Given the description of an element on the screen output the (x, y) to click on. 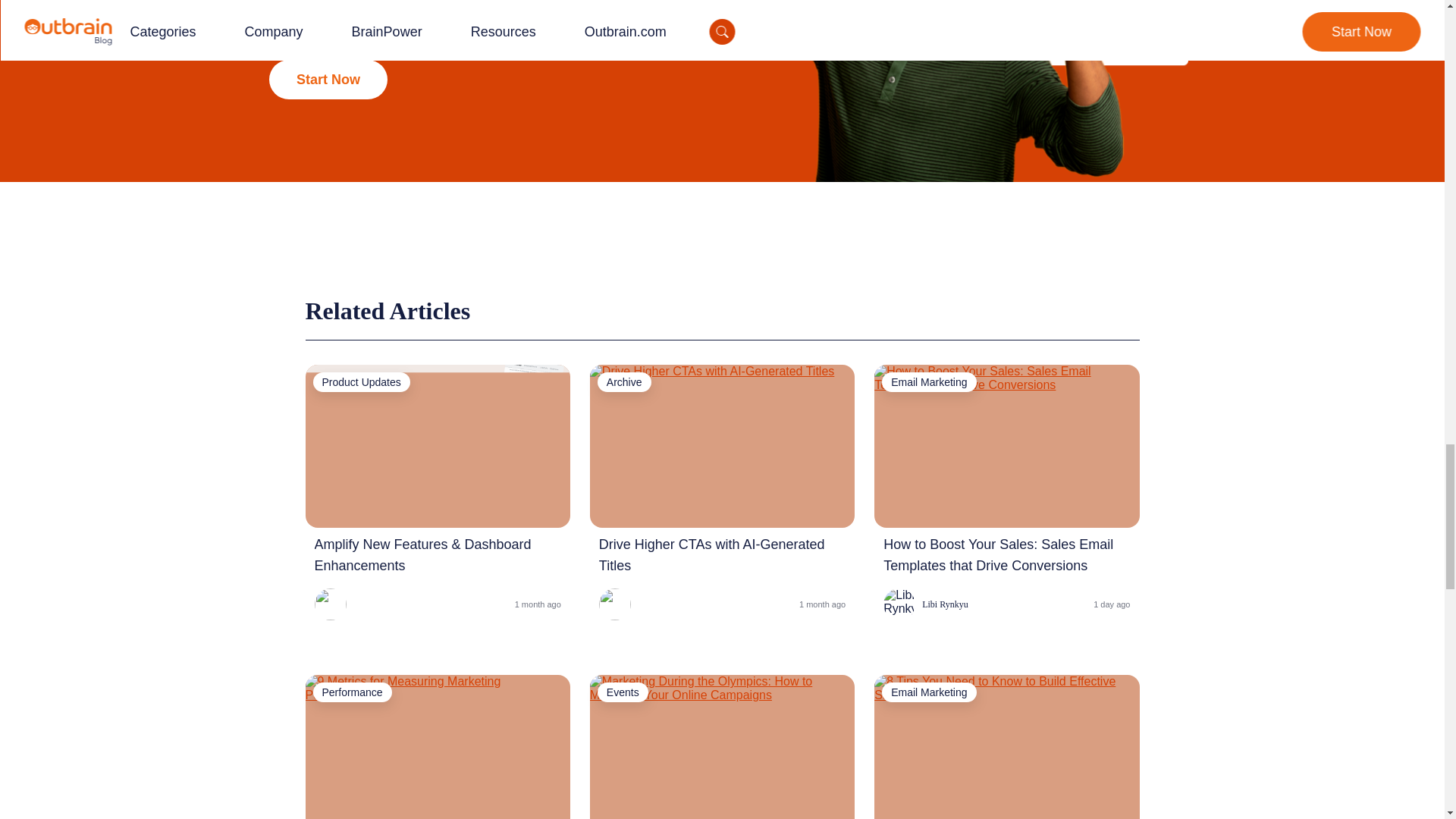
Libi Rynkyu (925, 603)
